Given the description of an element on the screen output the (x, y) to click on. 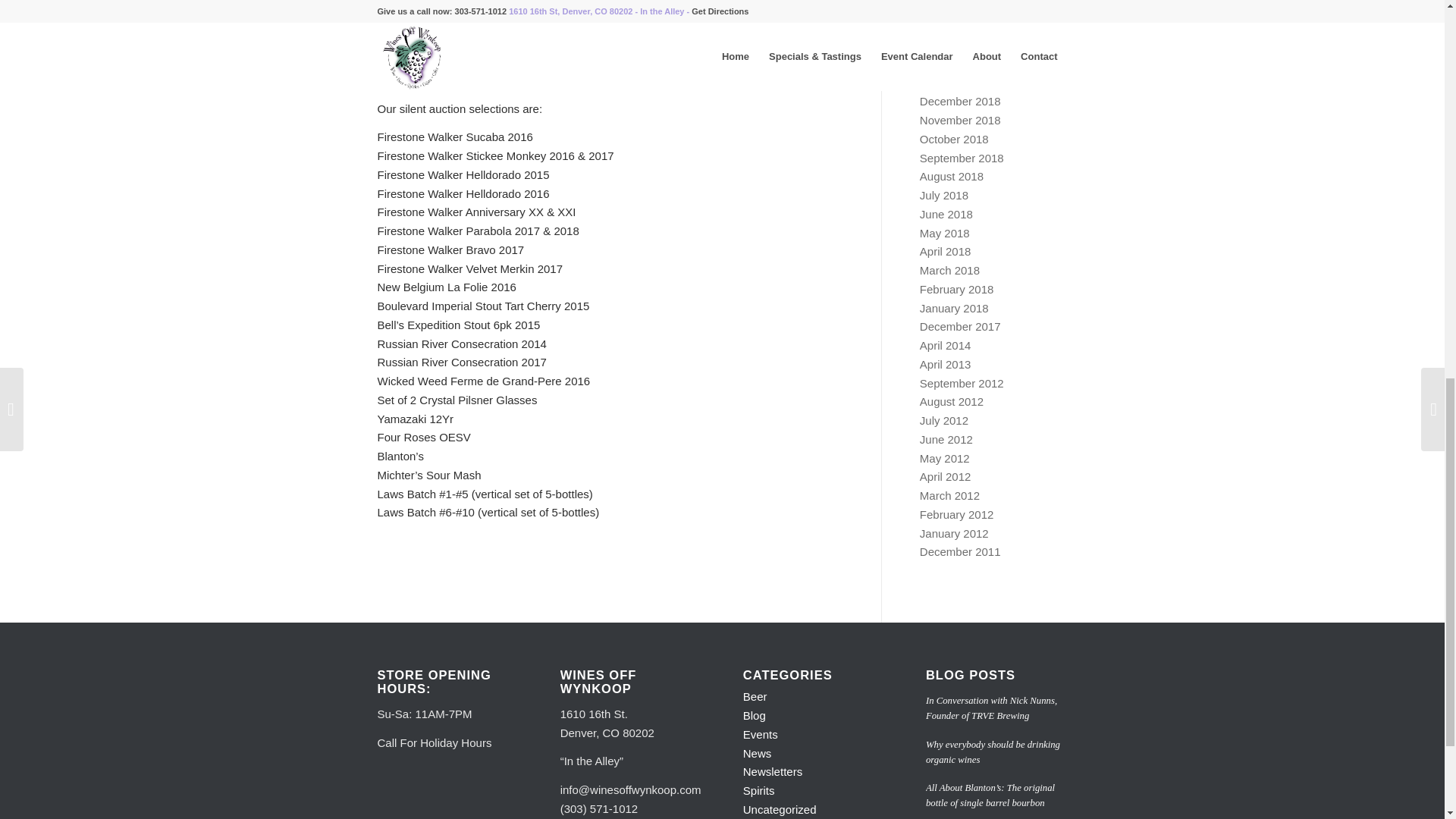
September 2018 (962, 157)
May 2018 (944, 232)
August 2018 (952, 175)
June 2018 (946, 214)
December 2018 (960, 101)
November 2019 (960, 7)
March 2019 (949, 44)
November 2018 (960, 119)
October 2018 (954, 138)
July 2018 (944, 195)
